Given the description of an element on the screen output the (x, y) to click on. 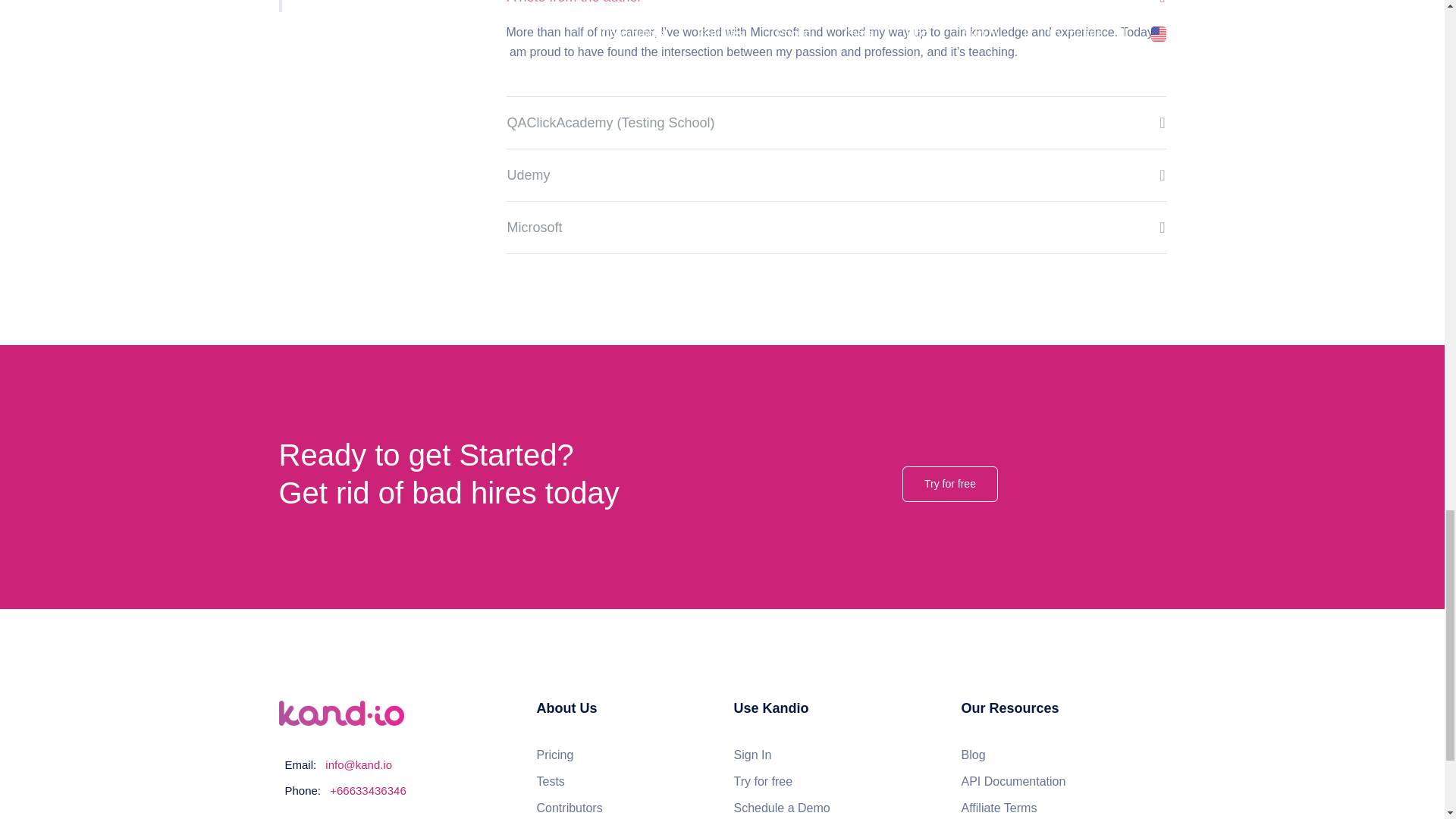
Udemy (836, 174)
A note from the author (836, 11)
Achievements (381, 6)
